Given the description of an element on the screen output the (x, y) to click on. 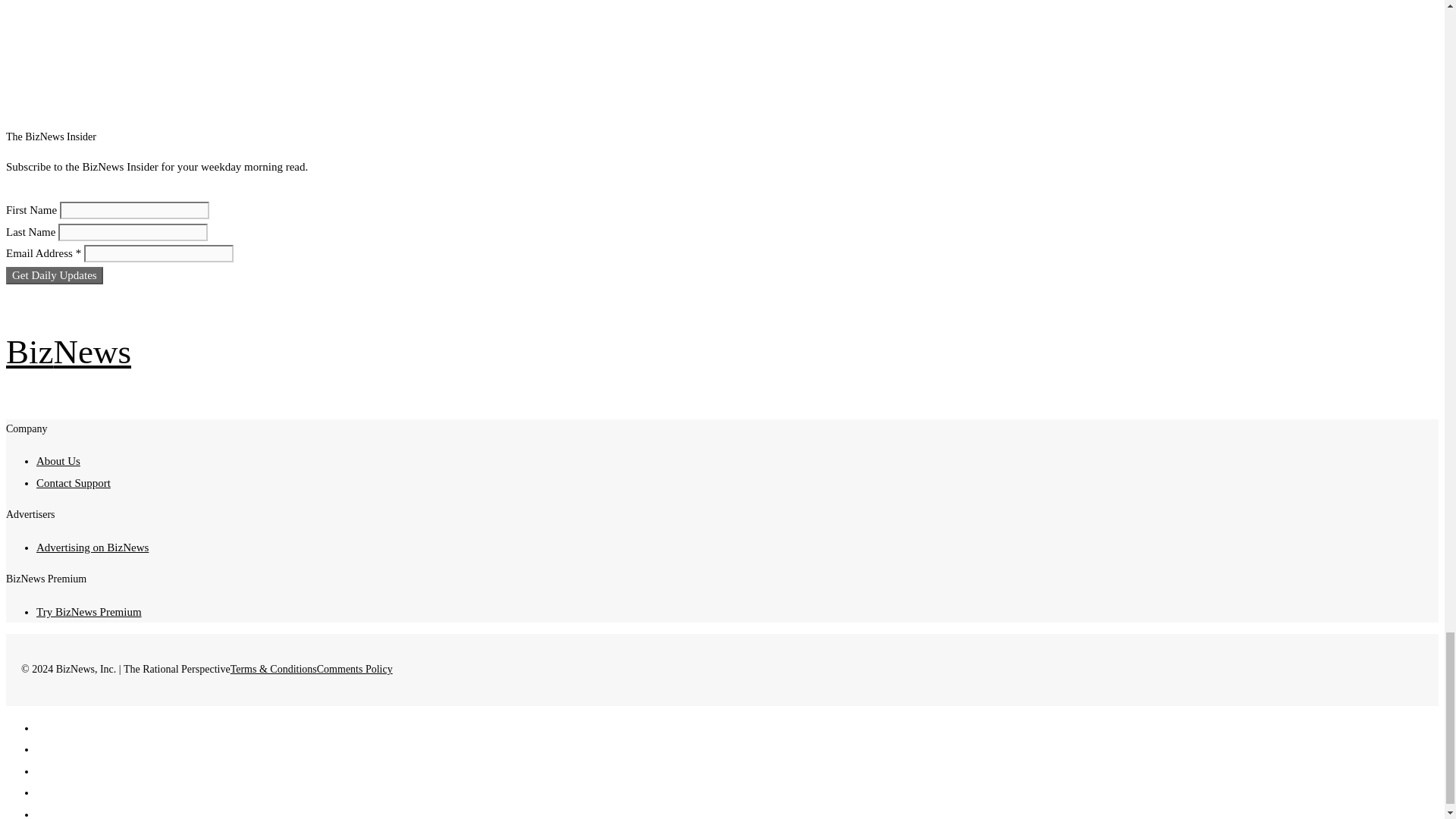
Get Daily Updates (54, 275)
Spotify Embed: BizNews Radio (464, 40)
BizNews (68, 351)
